Given the description of an element on the screen output the (x, y) to click on. 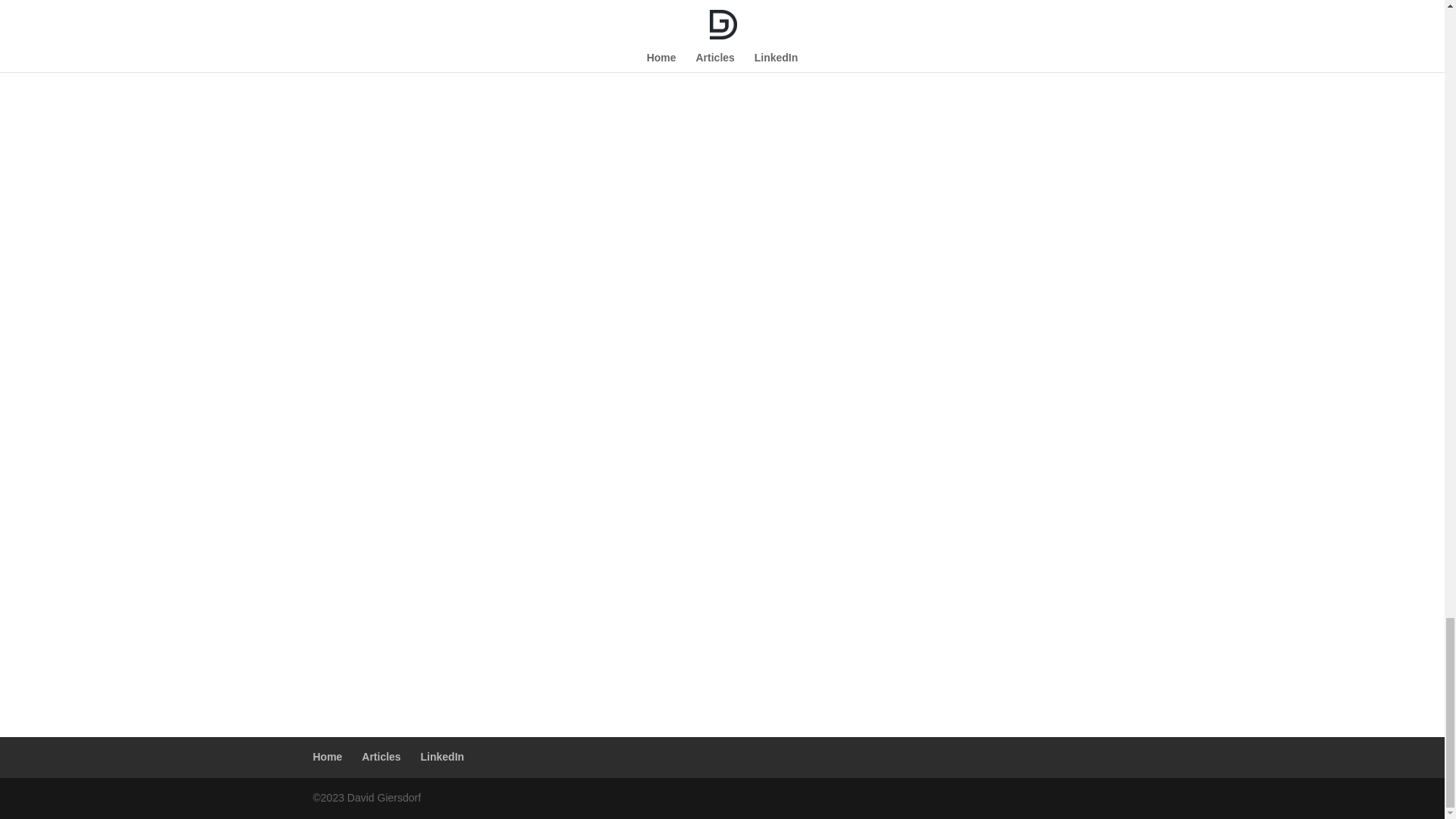
Home (327, 756)
LinkedIn (442, 756)
Articles (380, 756)
